Given the description of an element on the screen output the (x, y) to click on. 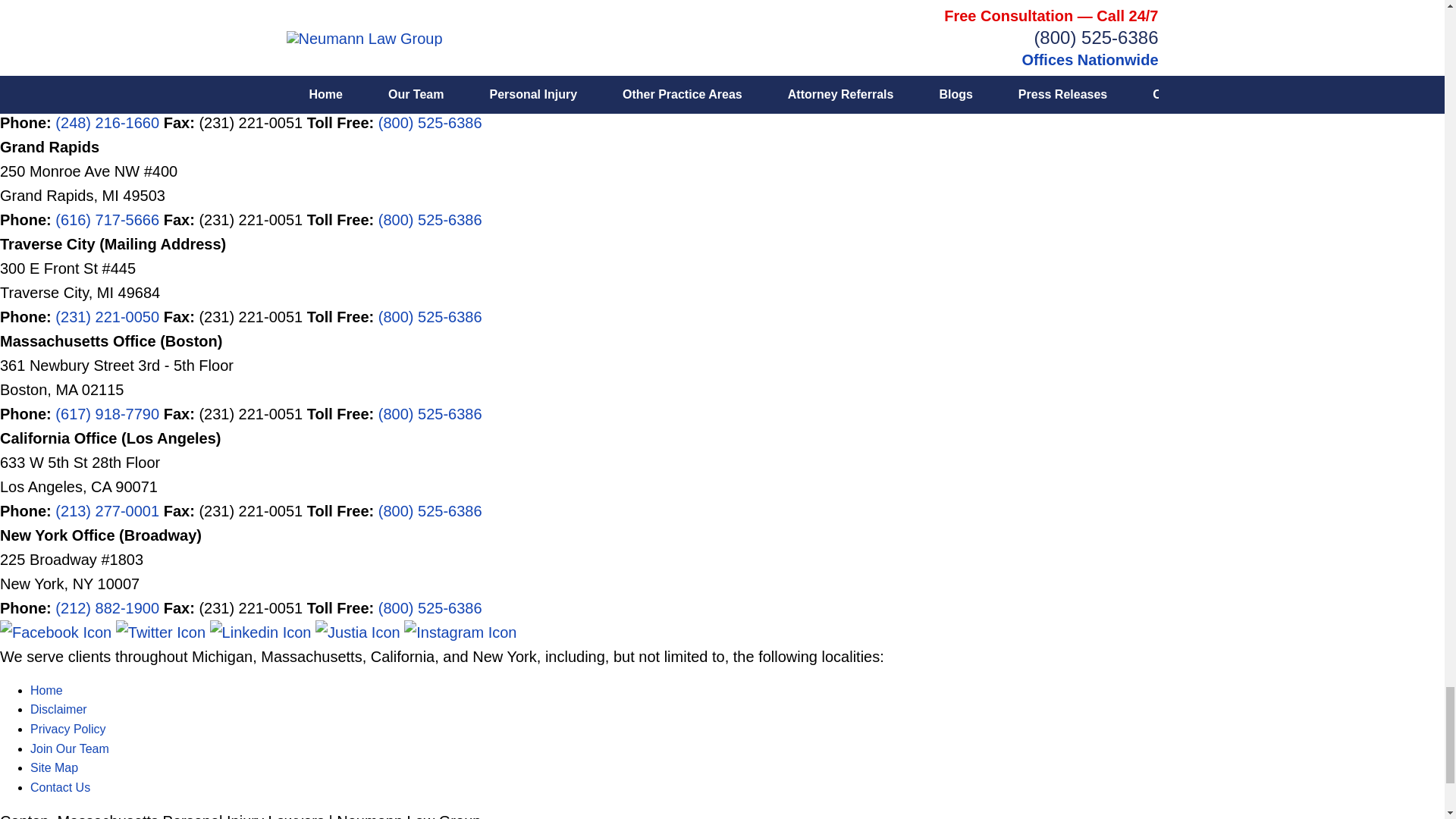
Justia (359, 632)
Twitter (162, 632)
Instagram (460, 632)
Facebook (58, 632)
Linkedin (262, 632)
